Given the description of an element on the screen output the (x, y) to click on. 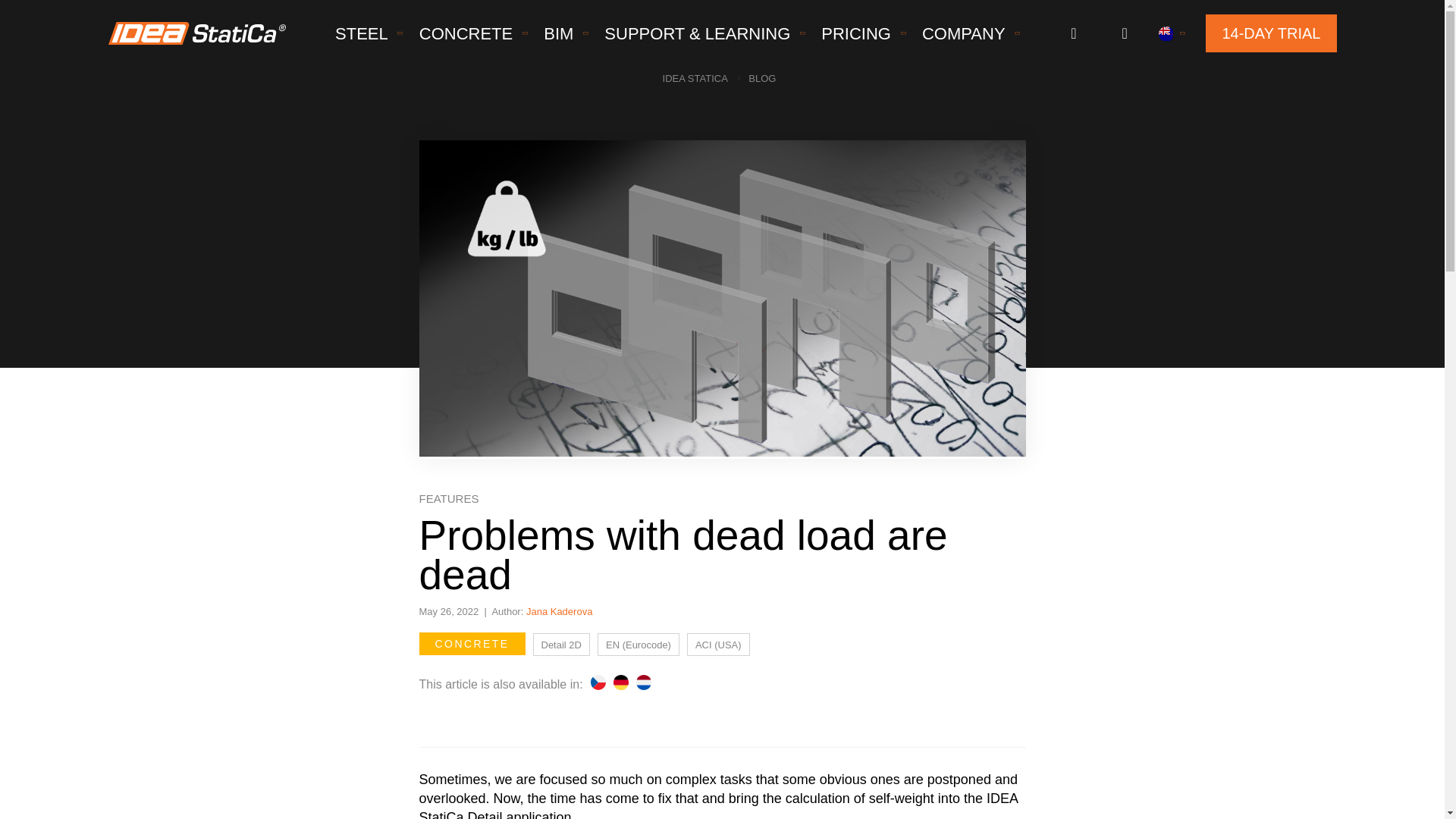
COMPANY (963, 33)
CONCRETE (465, 33)
STEEL (361, 33)
PRICING (855, 33)
Concrete (465, 33)
Portal (1072, 33)
Pricing (855, 33)
14-DAY TRIAL (1270, 33)
Steel (361, 33)
